Given the description of an element on the screen output the (x, y) to click on. 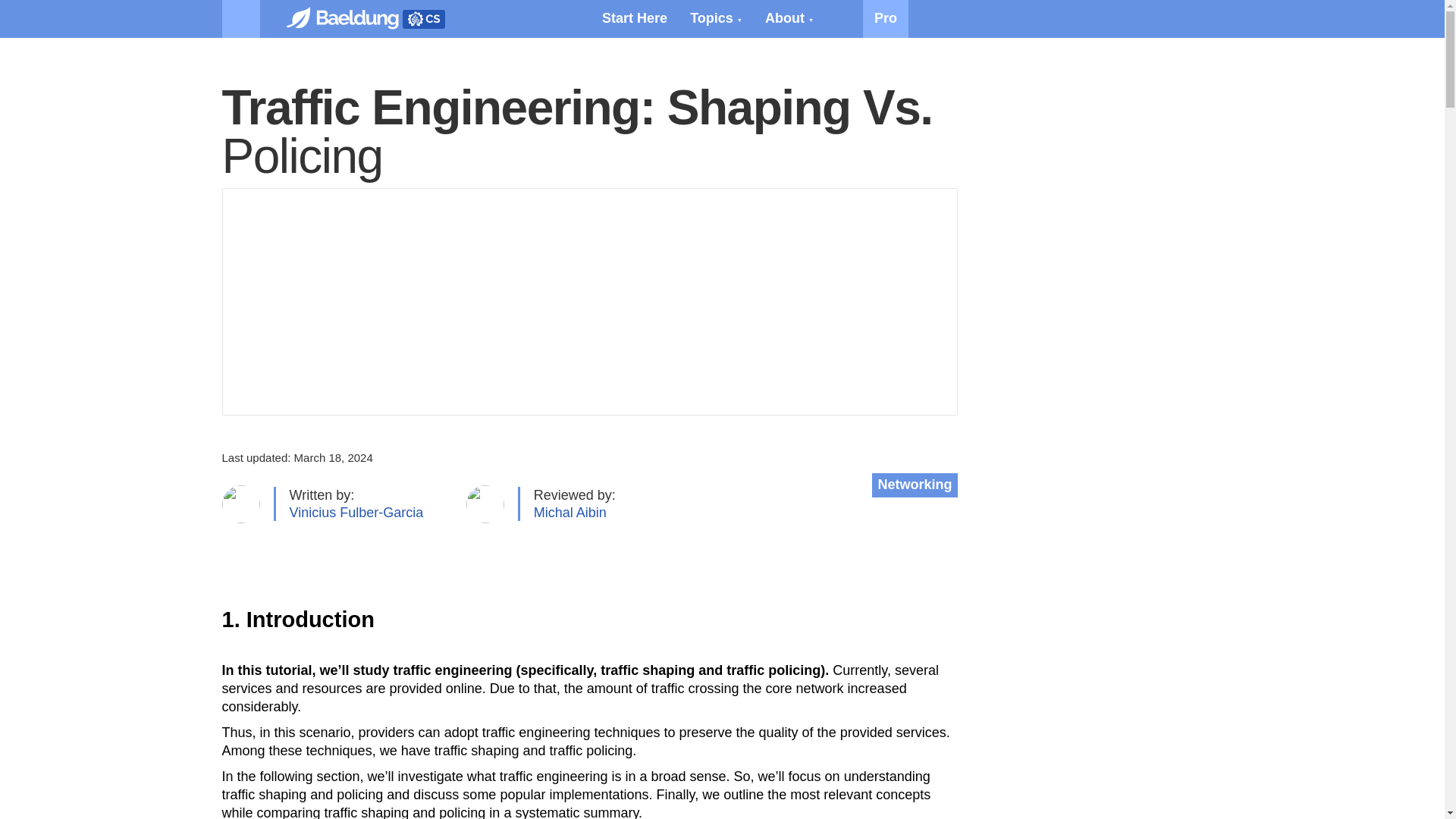
Baeldung (422, 18)
Networking (914, 485)
Posts by Vinicius Fulber-Garcia (356, 512)
Reviewed by Michal Aibin (570, 512)
Pro (885, 18)
Vinicius Fulber-Garcia (356, 512)
search (1204, 18)
Michal Aibin (570, 512)
RSS (844, 18)
Baeldung (350, 17)
